Given the description of an element on the screen output the (x, y) to click on. 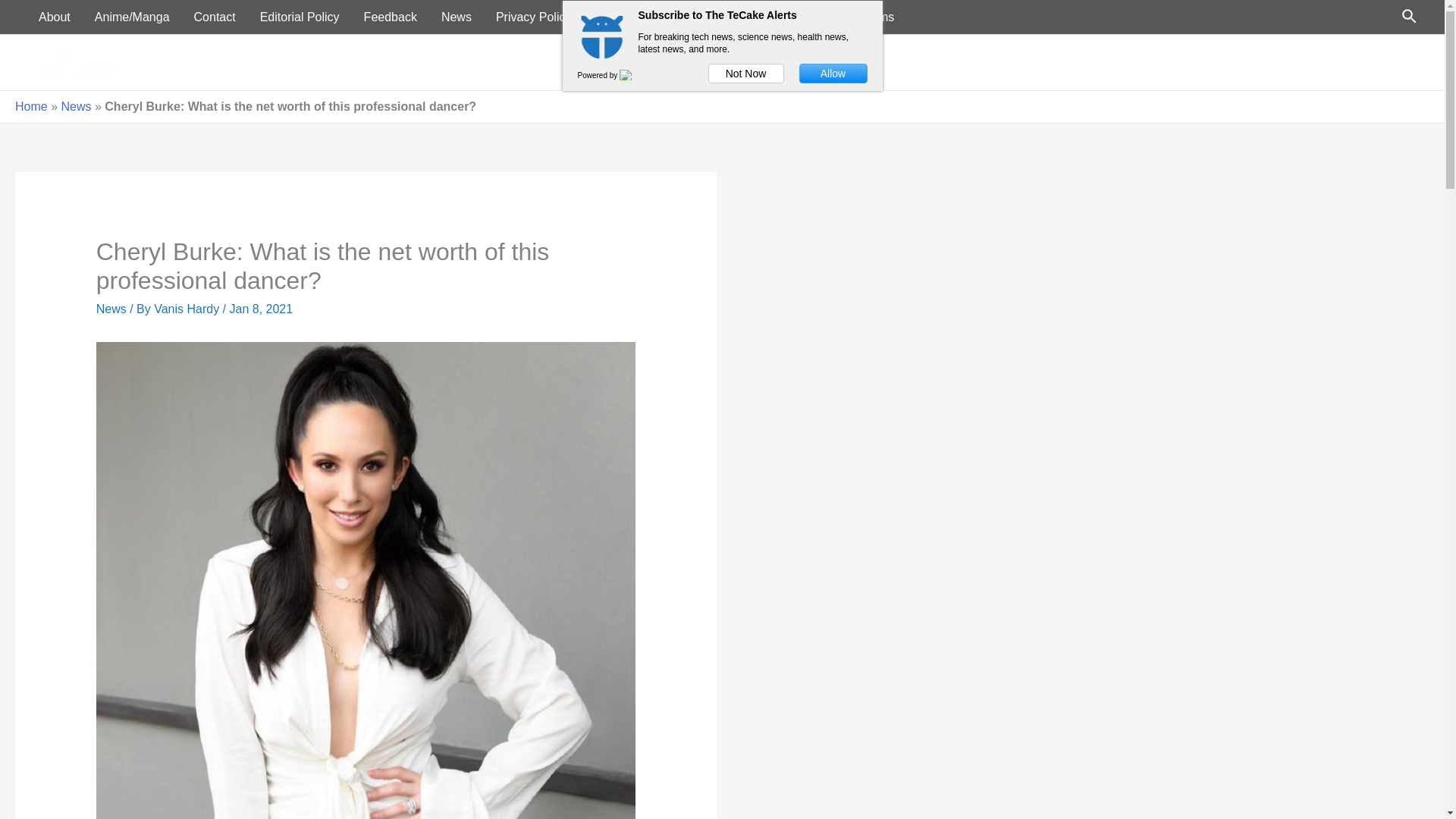
News (75, 106)
About (54, 17)
Privacy Policy (533, 17)
Feedback (390, 17)
Vanis Hardy (188, 308)
News (111, 308)
News (1215, 62)
Tech (1267, 62)
Editorial Policy (299, 17)
Games (1324, 62)
